Given the description of an element on the screen output the (x, y) to click on. 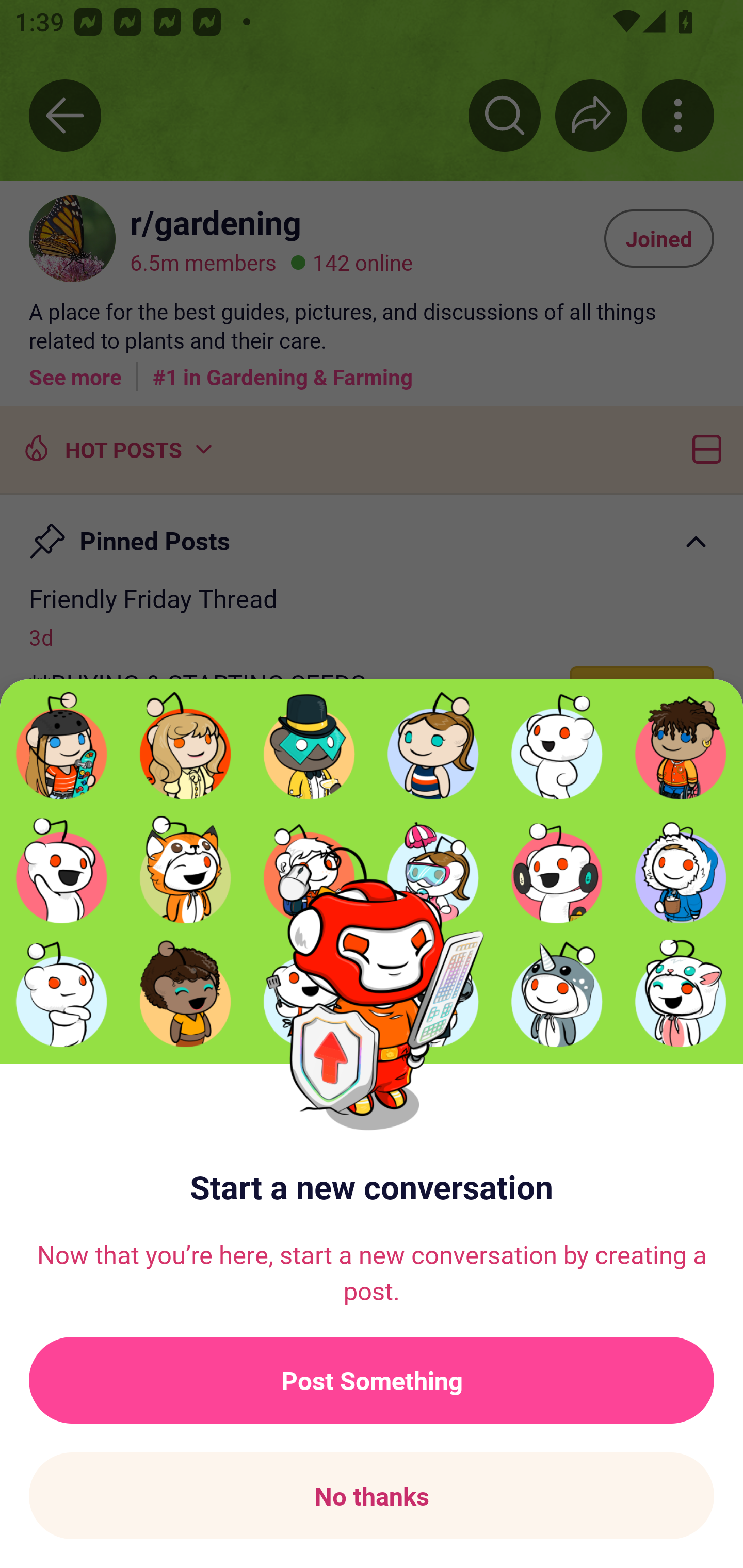
Post Something (371, 1380)
No thanks (371, 1495)
